Given the description of an element on the screen output the (x, y) to click on. 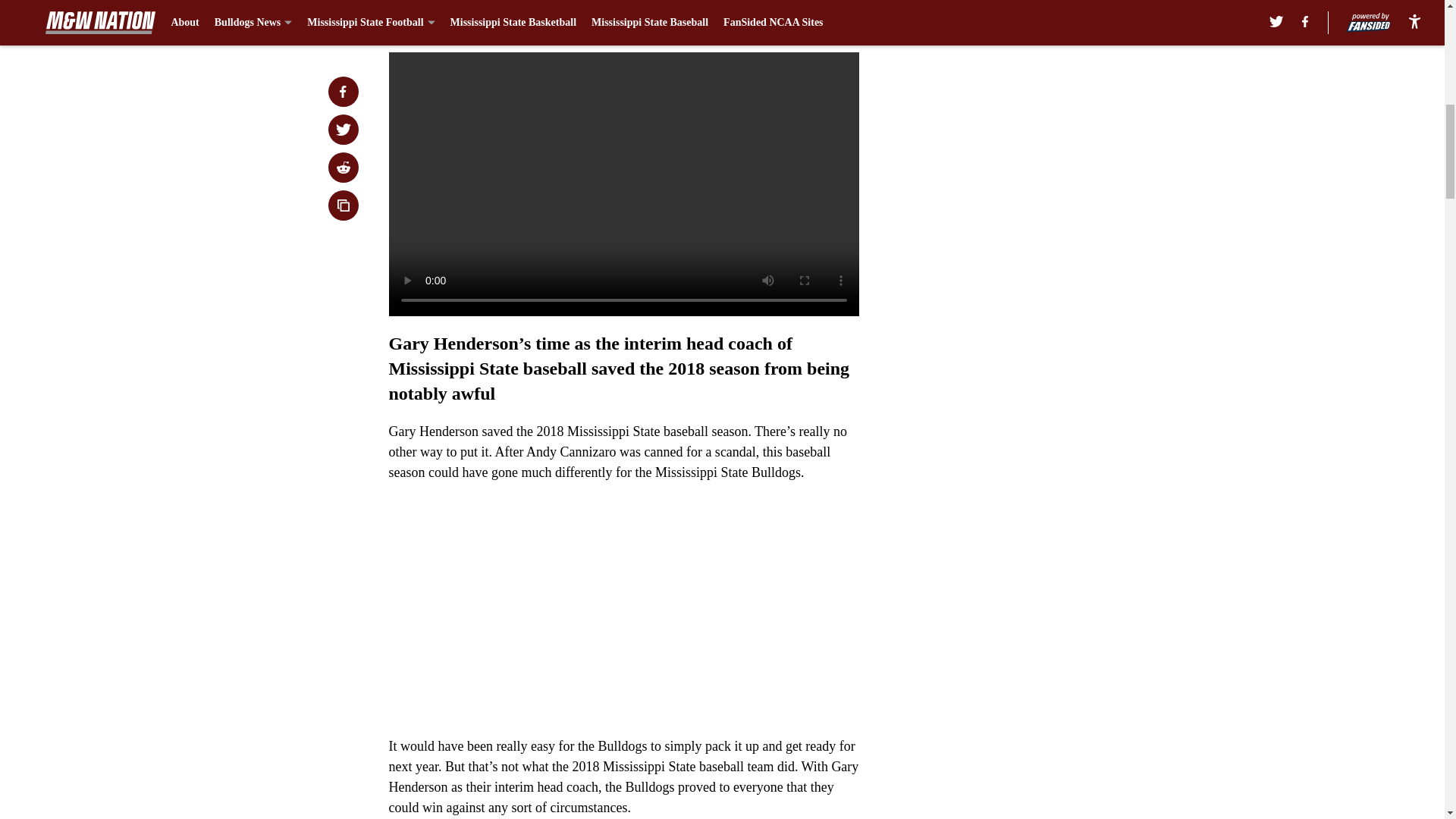
3rd party ad content (1047, 366)
3rd party ad content (1047, 145)
